Given the description of an element on the screen output the (x, y) to click on. 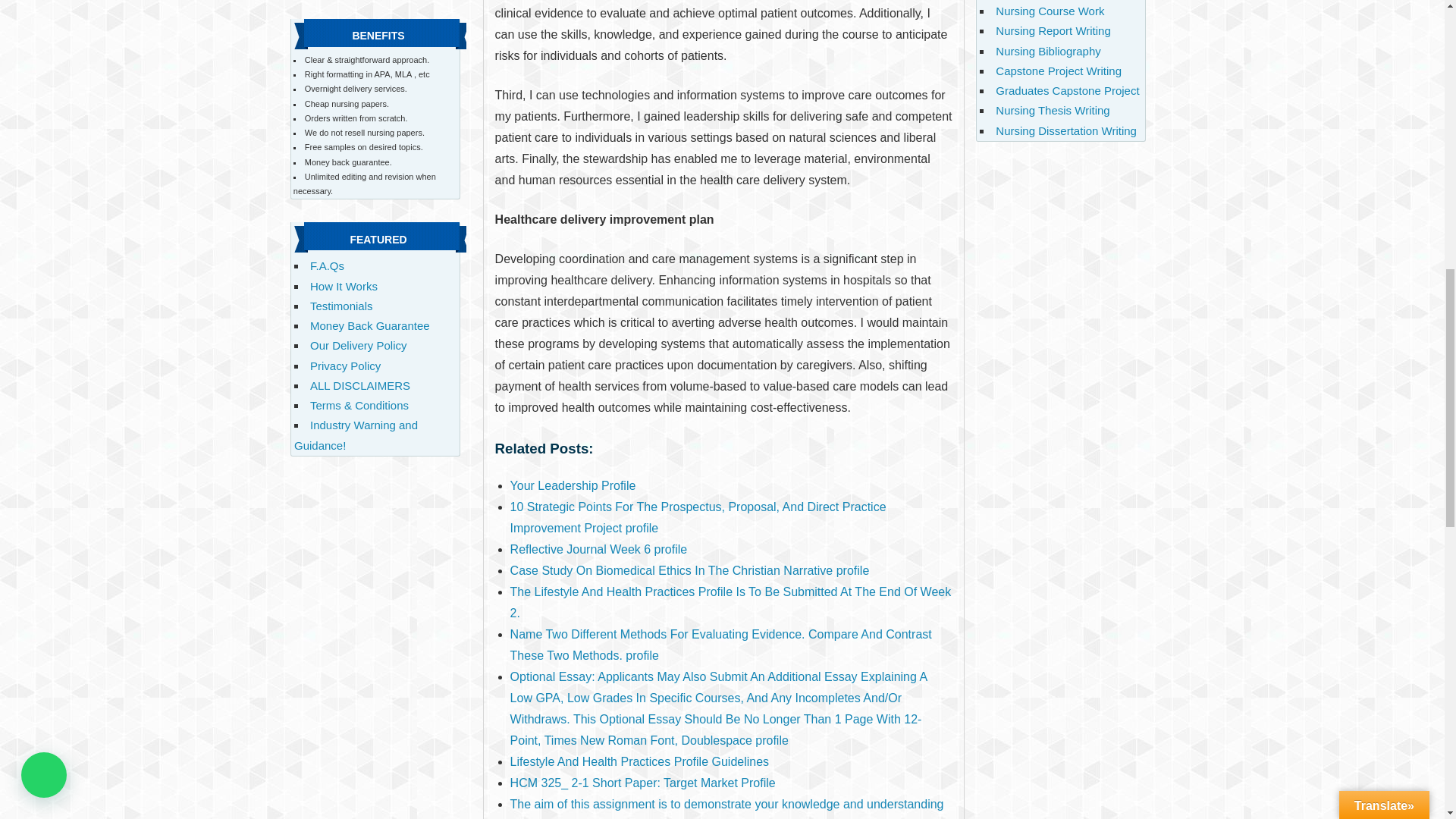
Reflective Journal Week 6 profile (599, 549)
Lifestyle And Health Practices Profile Guidelines (640, 761)
Your Leadership Profile (573, 485)
Lifestyle And Health Practices Profile Guidelines (640, 761)
Reflective Journal Week 6 profile (599, 549)
